Given the description of an element on the screen output the (x, y) to click on. 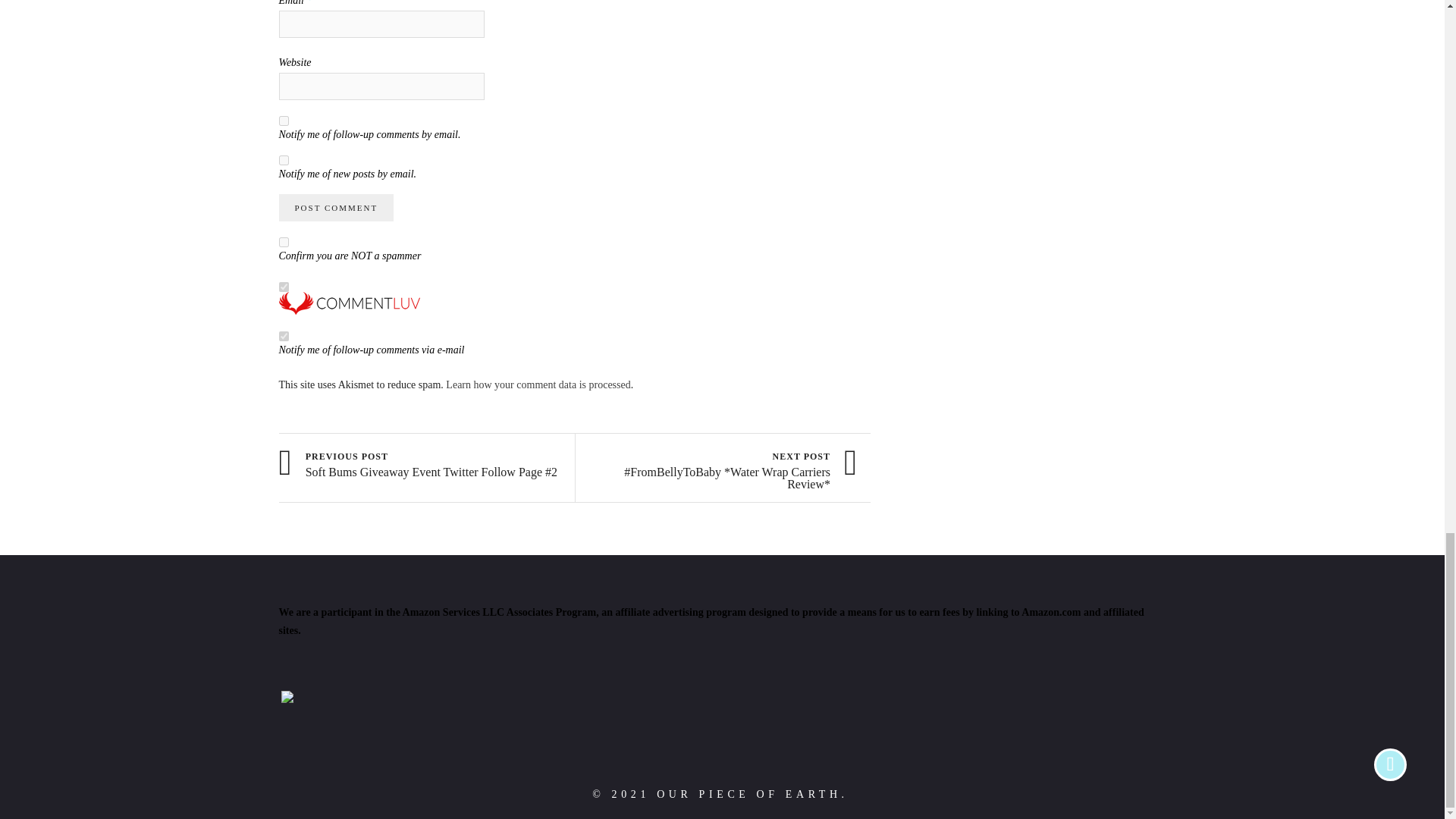
Post Comment (336, 207)
CommentLuv is enabled (349, 310)
on (283, 286)
subscribe (283, 121)
on (283, 242)
subscribe (283, 160)
